Given the description of an element on the screen output the (x, y) to click on. 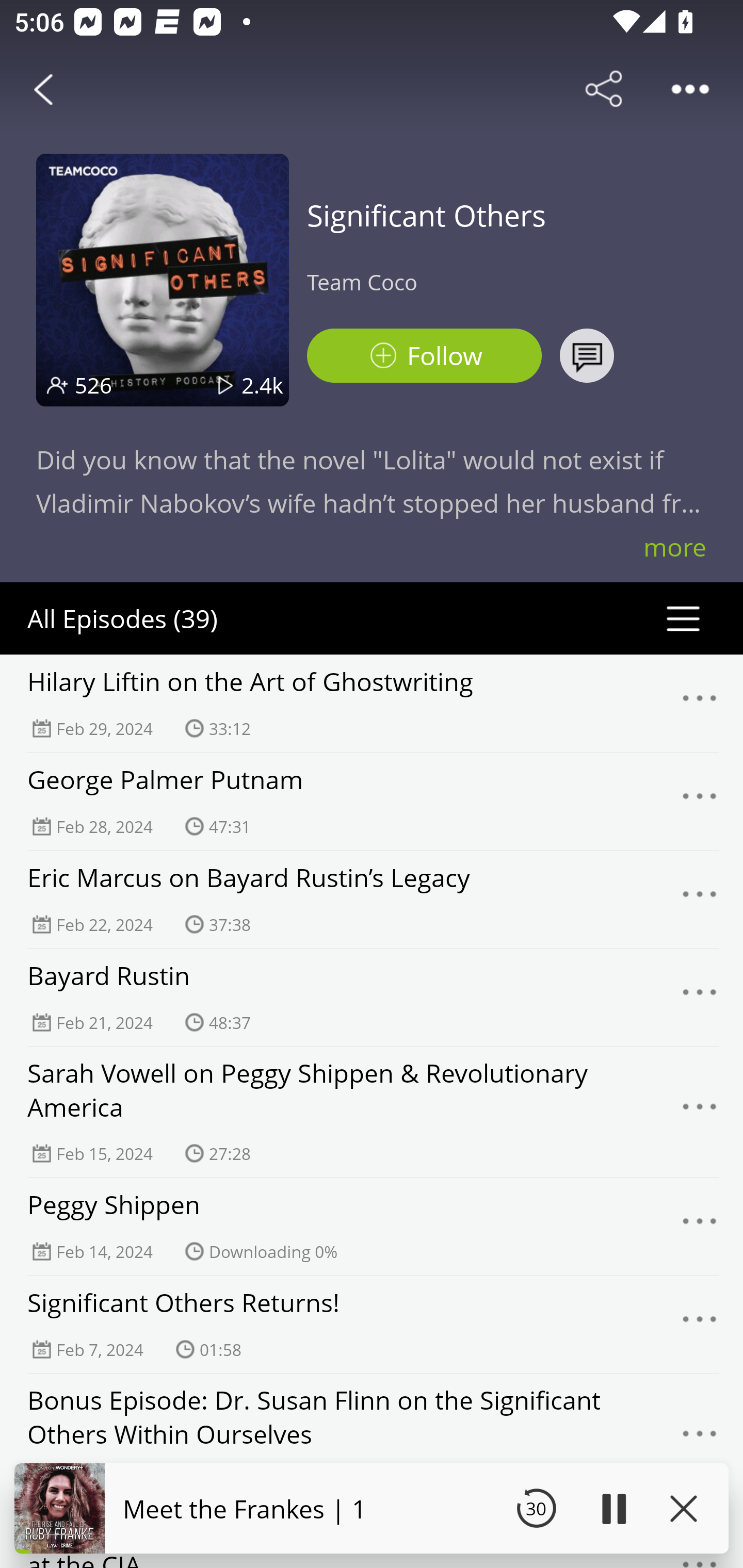
Back (43, 88)
Podbean Follow (423, 355)
526 (93, 384)
more (674, 546)
Menu (699, 703)
George Palmer Putnam Feb 28, 2024 47:31 Menu (371, 800)
Menu (699, 801)
Menu (699, 899)
Bayard Rustin Feb 21, 2024 48:37 Menu (371, 996)
Menu (699, 997)
Menu (699, 1112)
Peggy Shippen Feb 14, 2024 Downloading 0% Menu (371, 1225)
Menu (699, 1226)
Significant Others Returns! Feb 7, 2024 01:58 Menu (371, 1323)
Menu (699, 1324)
Menu (699, 1438)
Meet the Frankes | 1 30 Seek Backward 42948.0 Play (371, 1508)
Play (613, 1507)
30 Seek Backward (536, 1508)
